Given the description of an element on the screen output the (x, y) to click on. 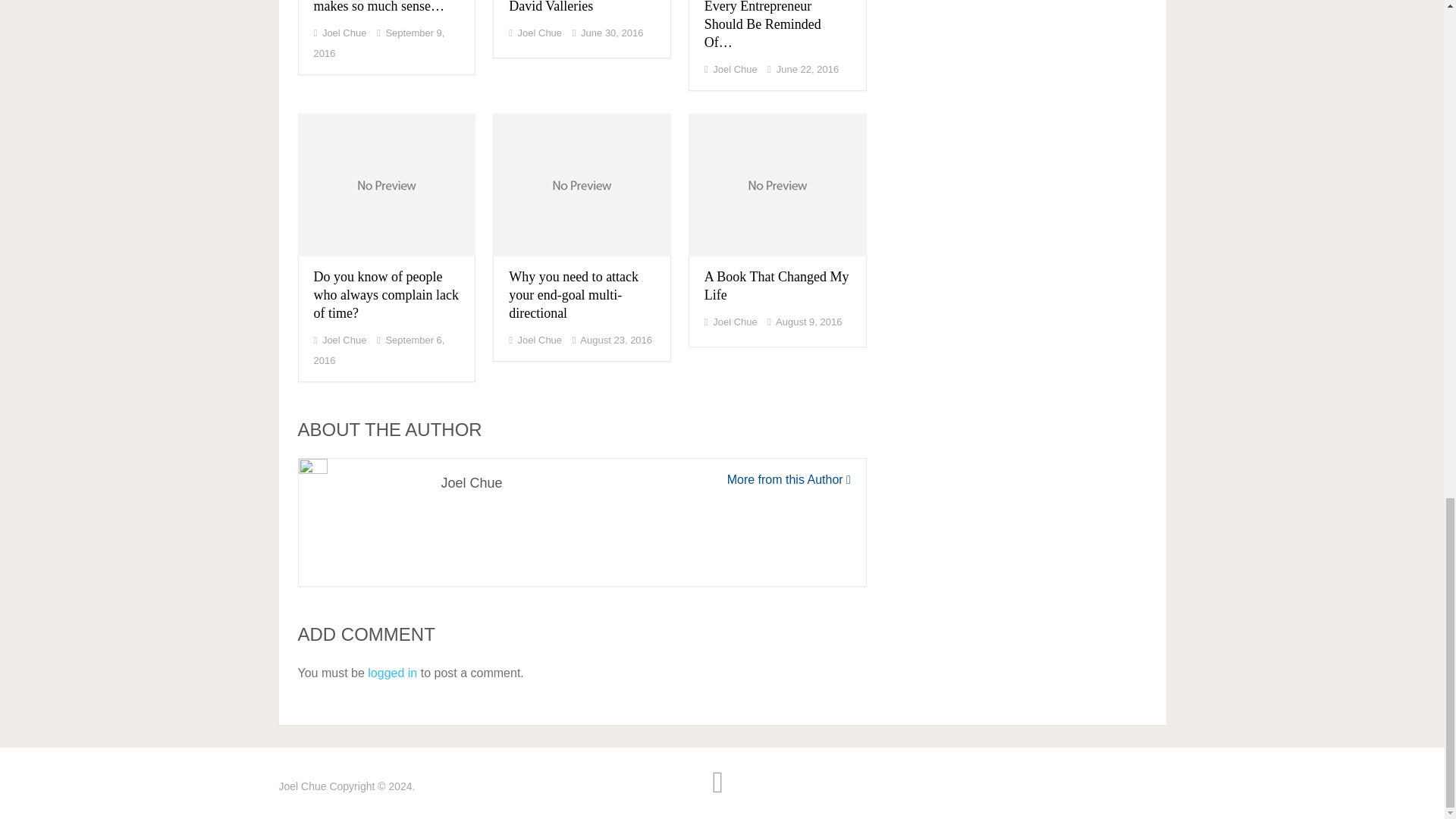
Posts by Joel Chue (343, 32)
